Given the description of an element on the screen output the (x, y) to click on. 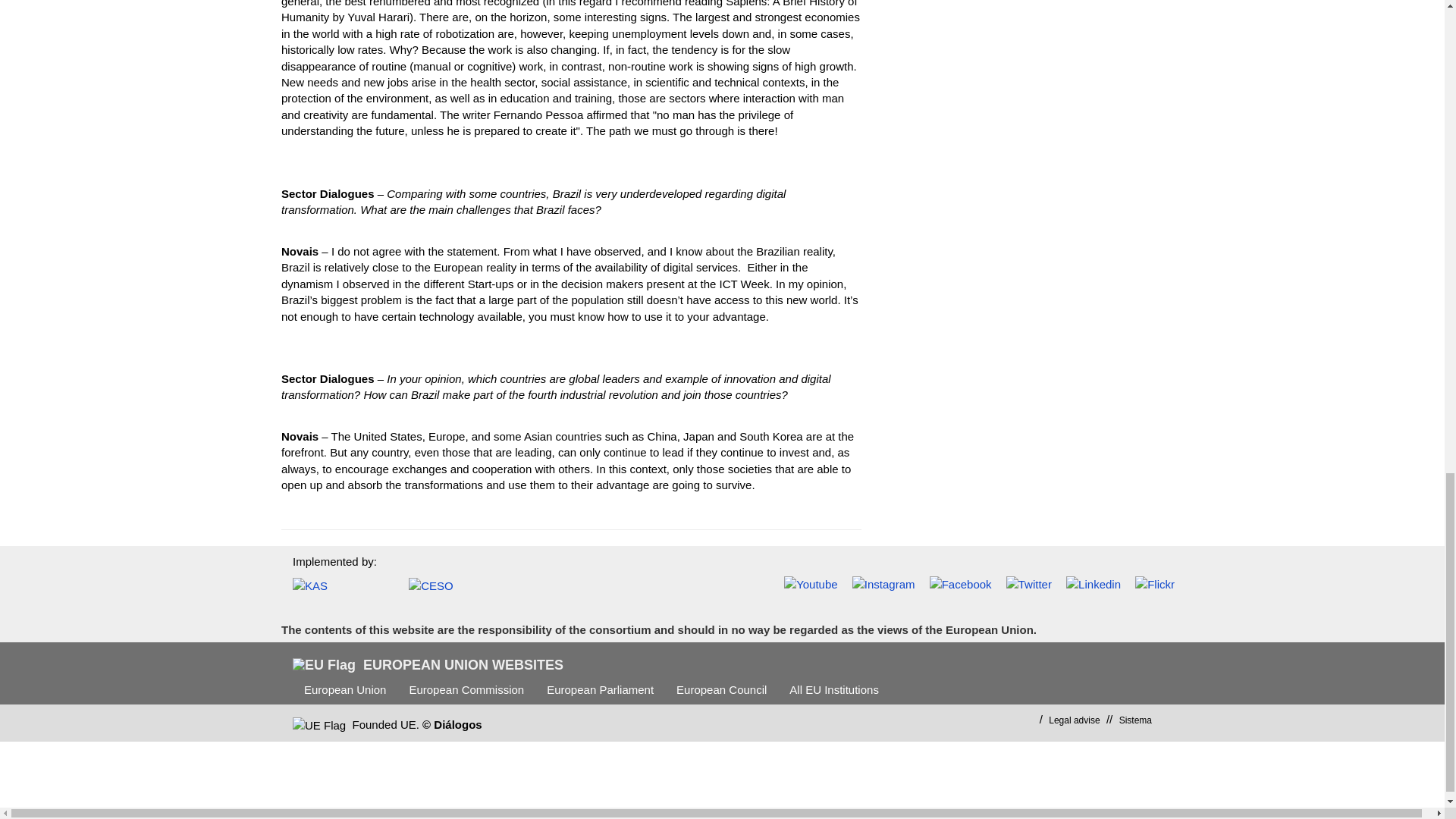
Sistema (1135, 719)
European Council (721, 689)
Legal advise (1073, 719)
Instagram (883, 584)
Youtube (811, 584)
European Union (344, 689)
Facebook (960, 584)
Twitter (1028, 584)
CESO (455, 585)
Flickr (1154, 584)
UE (319, 725)
European Commission (466, 689)
European Parliament (600, 689)
Linkedin (1093, 584)
KAS (339, 585)
